Given the description of an element on the screen output the (x, y) to click on. 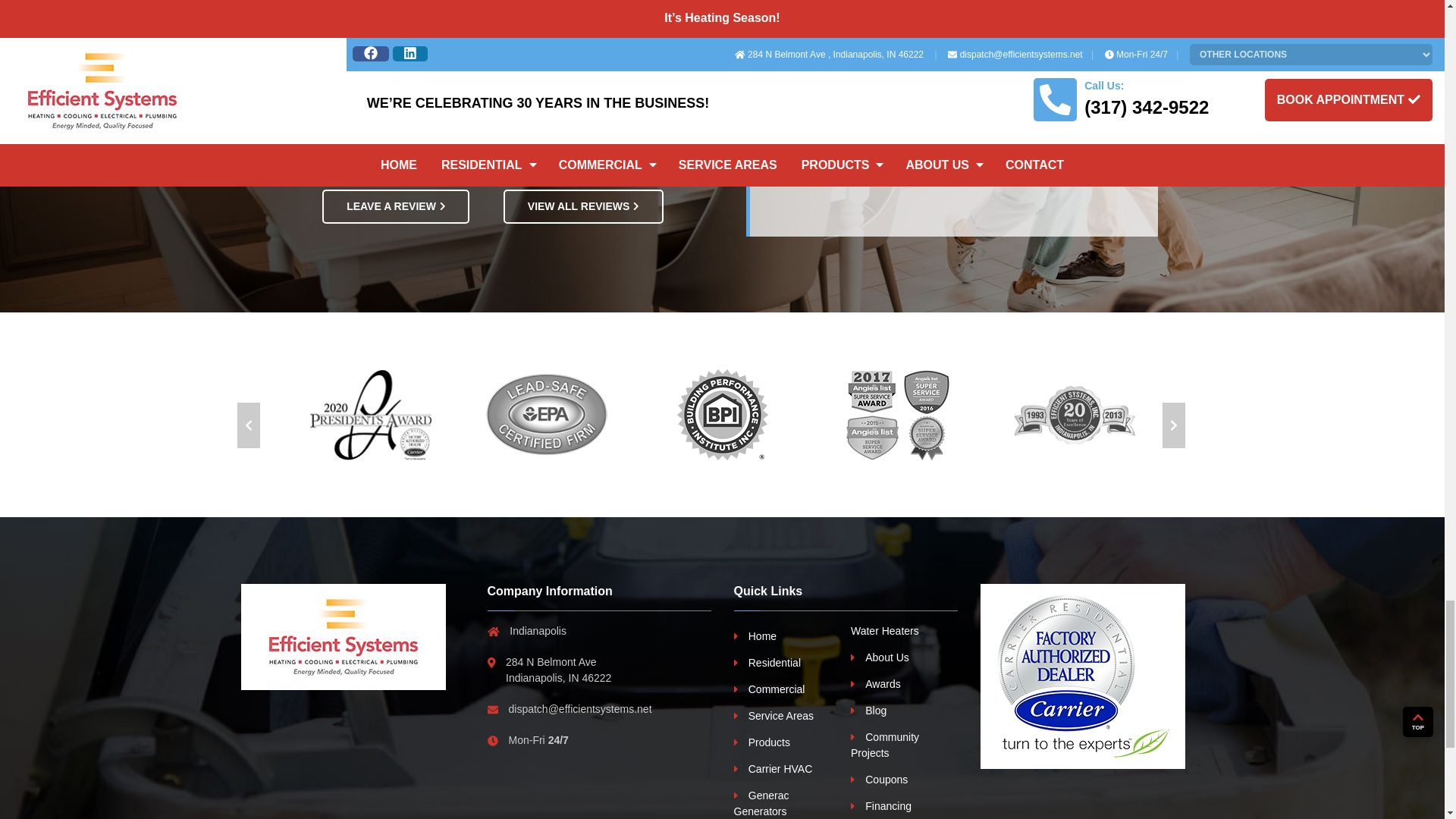
Efficient Systems, Inc, Indianapolis, IN (343, 636)
